Given the description of an element on the screen output the (x, y) to click on. 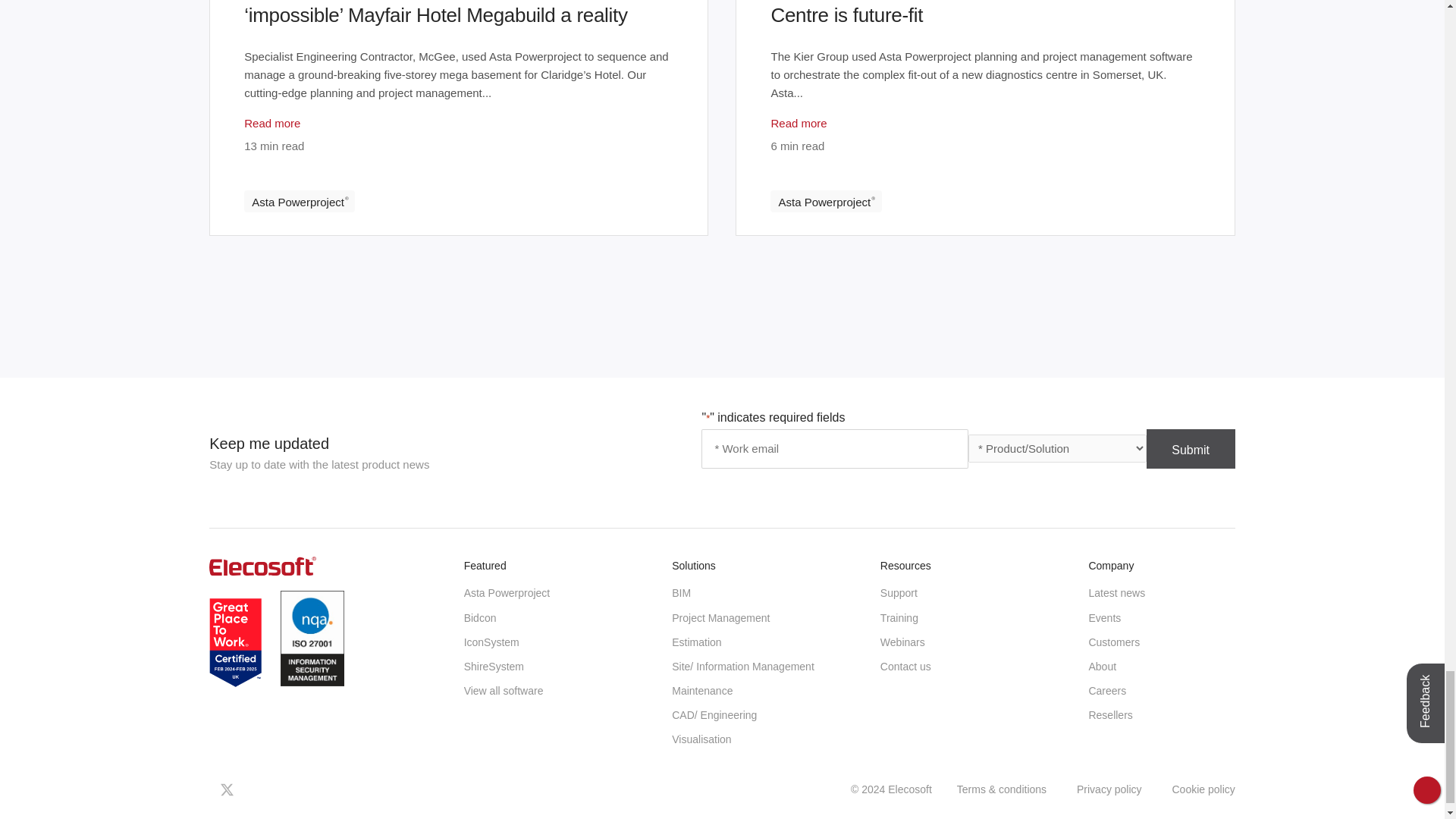
Project Management (720, 617)
BIM (680, 592)
Support (898, 592)
Bidcon (480, 617)
Visualisation (700, 739)
Latest news (1115, 592)
View all software (503, 690)
Maintenance (701, 690)
Training (899, 617)
